Given the description of an element on the screen output the (x, y) to click on. 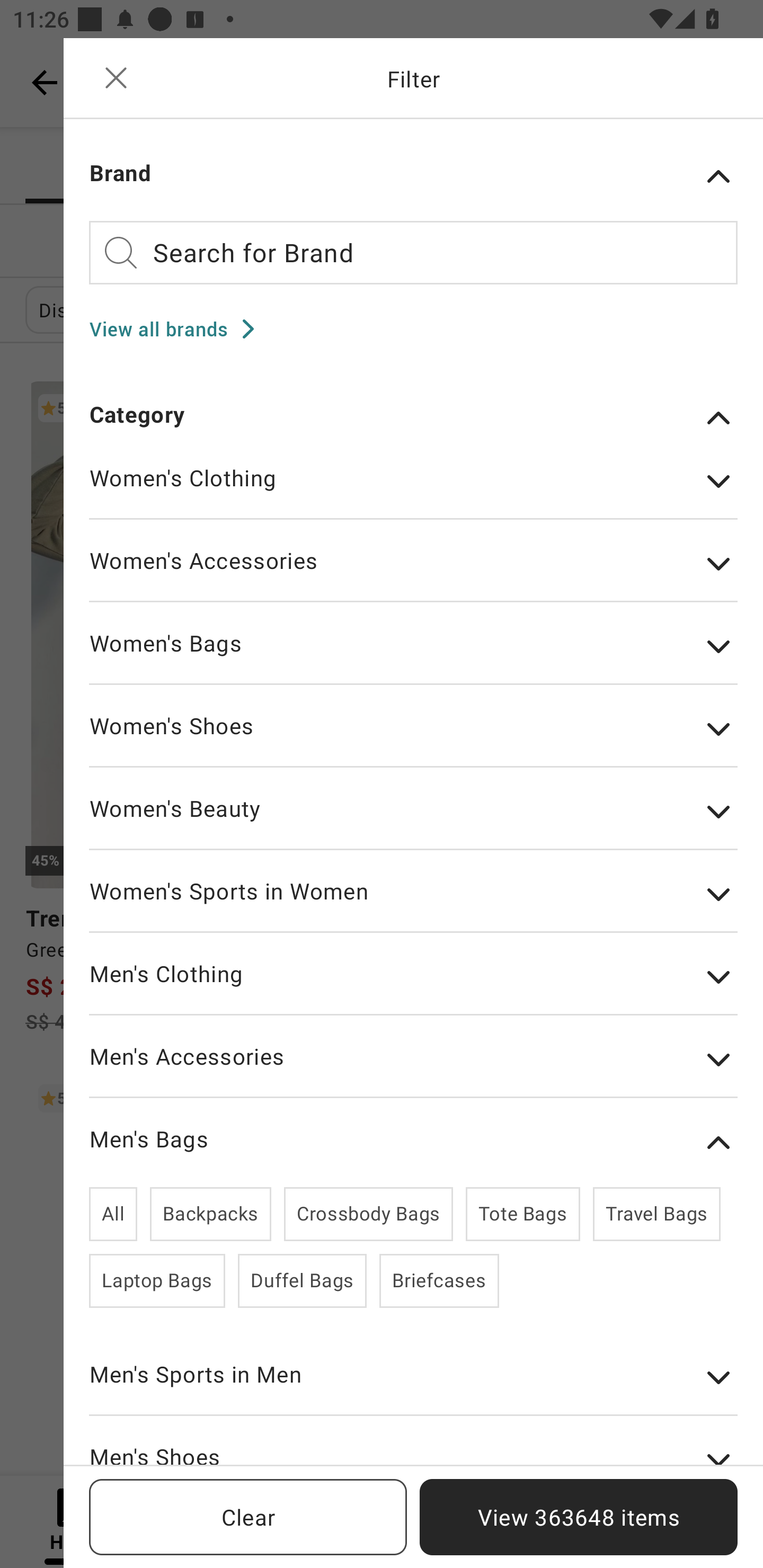
Brand (413, 176)
Search for Brand (413, 252)
View all brands (177, 328)
Category (413, 417)
Women's Clothing (413, 490)
Women's Accessories (413, 573)
Women's Bags (413, 656)
Women's Shoes (413, 739)
Women's Beauty (413, 821)
Women's Sports in Women (413, 903)
Men's Clothing (413, 987)
Men's Accessories (413, 1069)
Men's Bags (413, 1142)
All (113, 1213)
Backpacks (210, 1213)
Crossbody Bags (368, 1213)
Tote Bags (522, 1213)
Travel Bags (656, 1213)
Laptop Bags (157, 1280)
Duffel Bags (302, 1280)
Briefcases (439, 1280)
Men's Sports in Men (413, 1387)
Men's Shoes (413, 1452)
Clear (247, 1516)
View 363648 items (578, 1516)
